Given the description of an element on the screen output the (x, y) to click on. 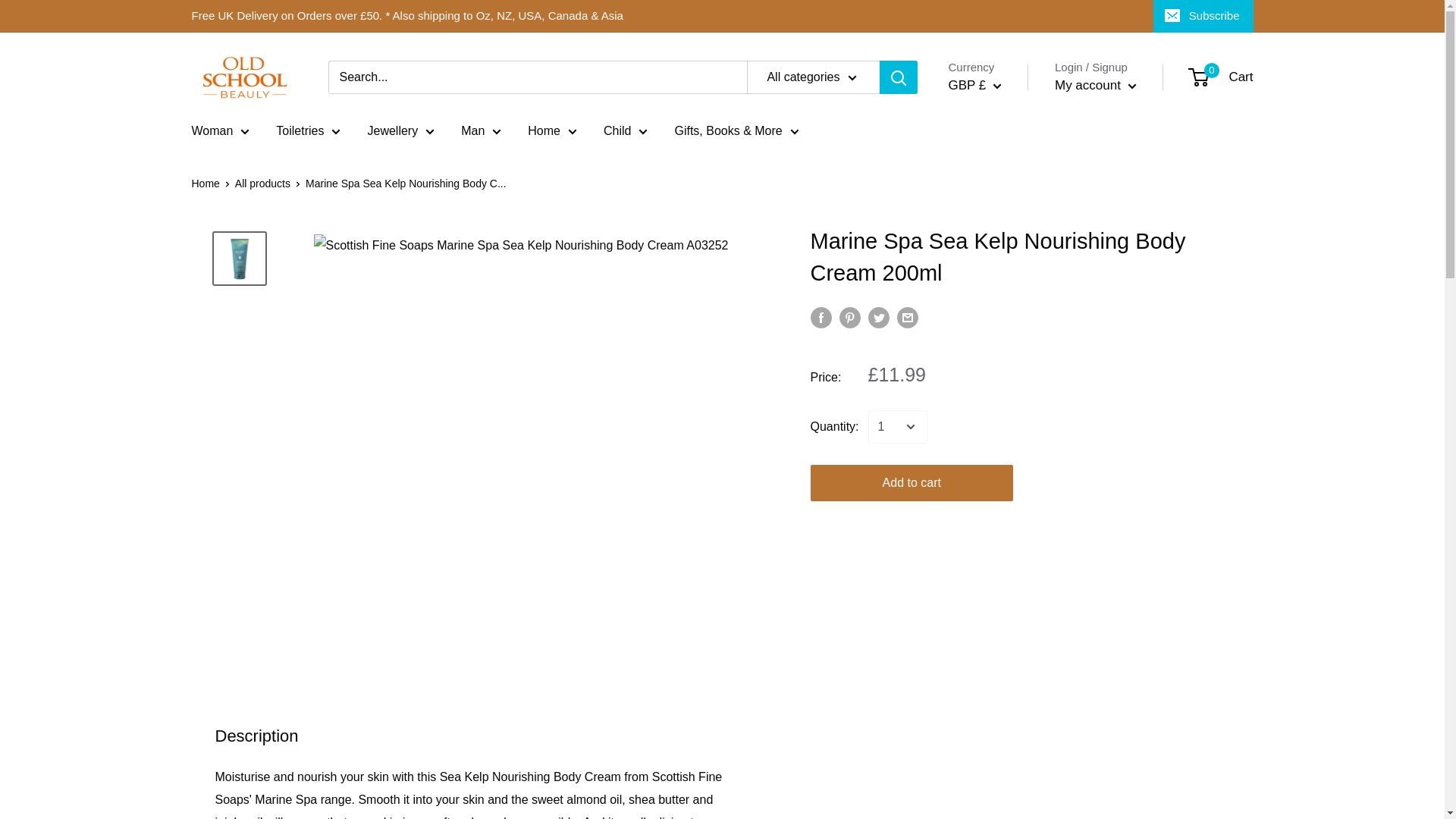
Subscribe (1203, 15)
